Given the description of an element on the screen output the (x, y) to click on. 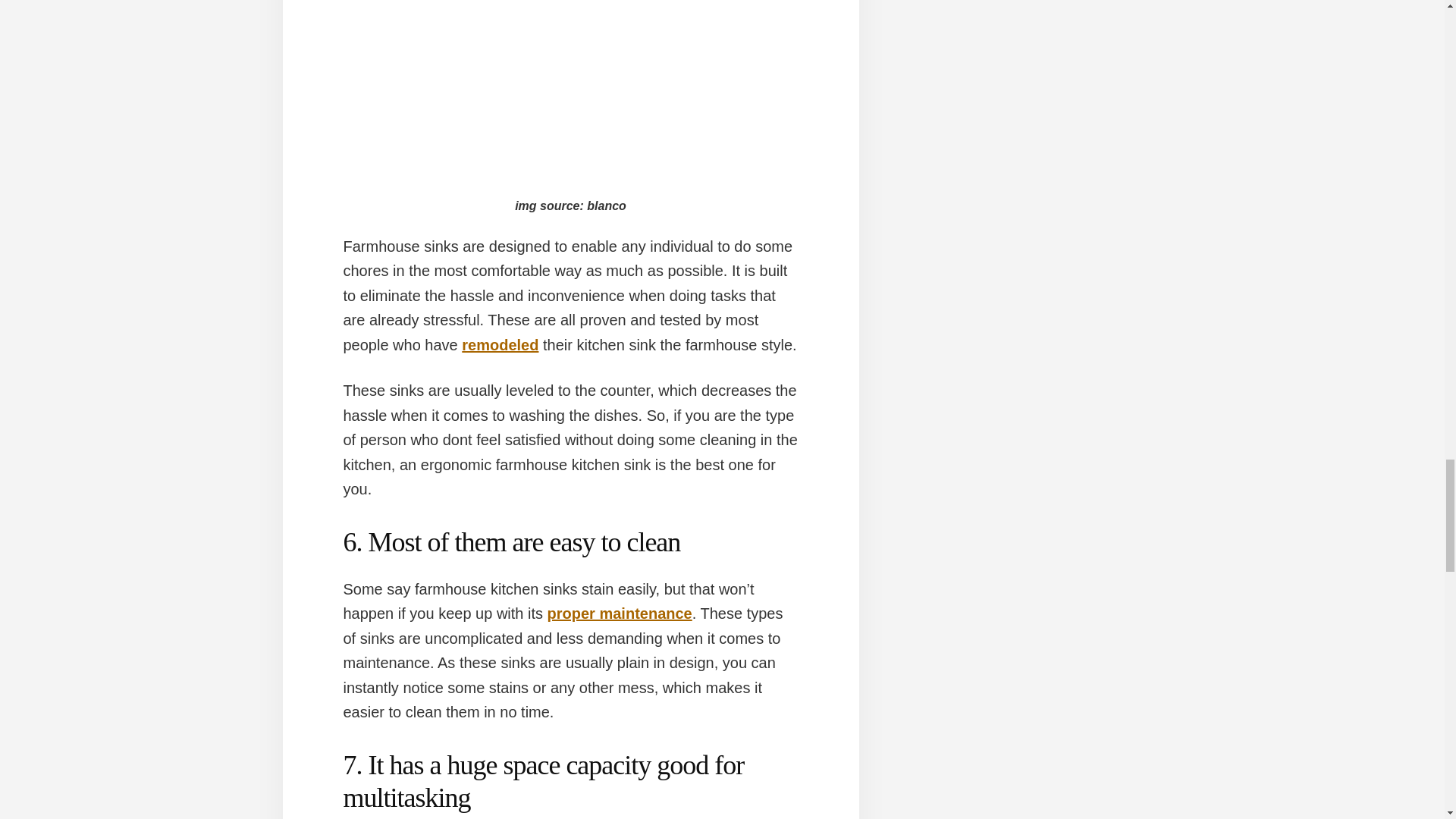
remodeled (499, 344)
proper maintenance (620, 613)
